Given the description of an element on the screen output the (x, y) to click on. 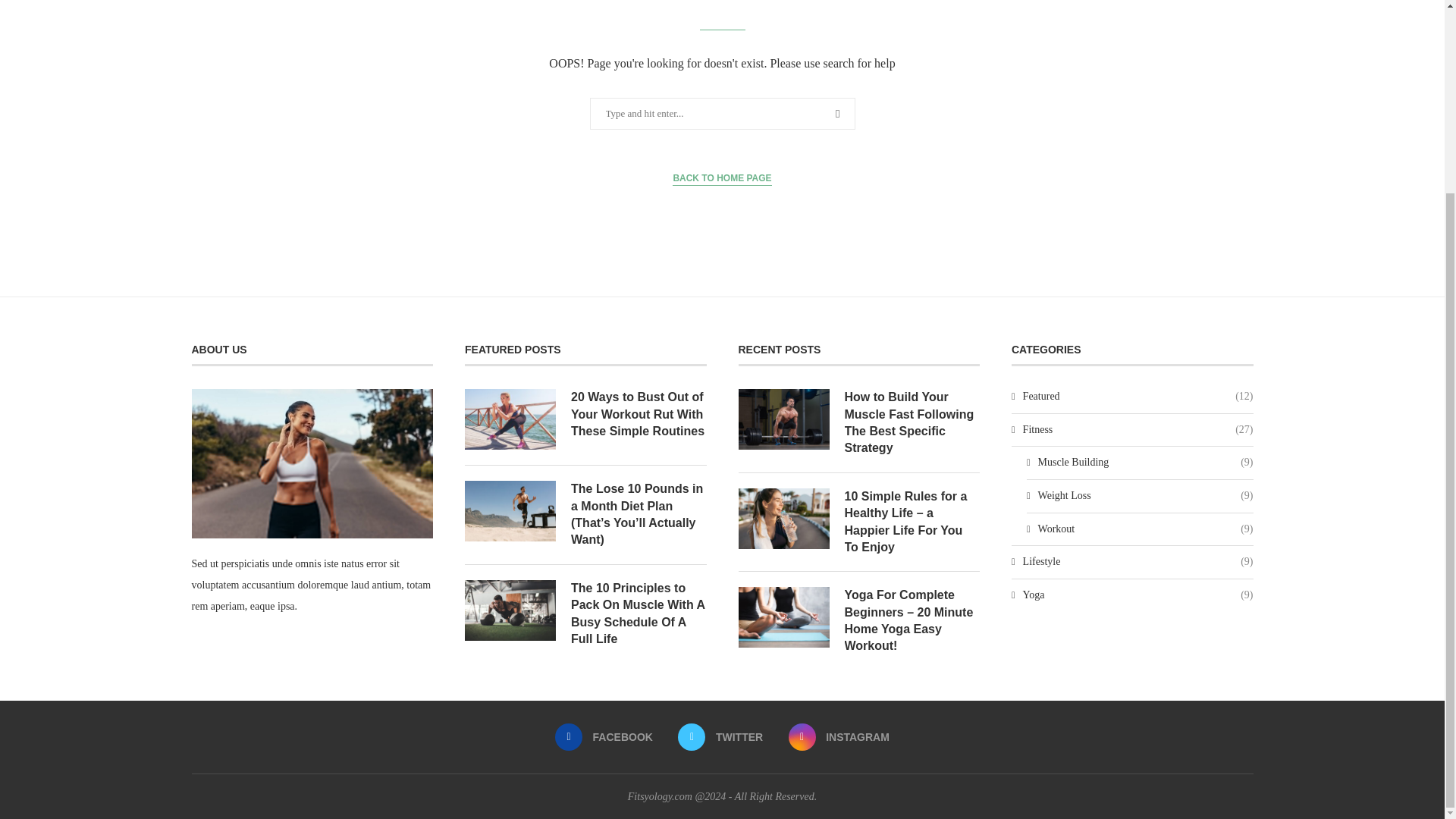
INSTAGRAM (839, 737)
BACK TO HOME PAGE (721, 178)
TWITTER (720, 737)
